Given the description of an element on the screen output the (x, y) to click on. 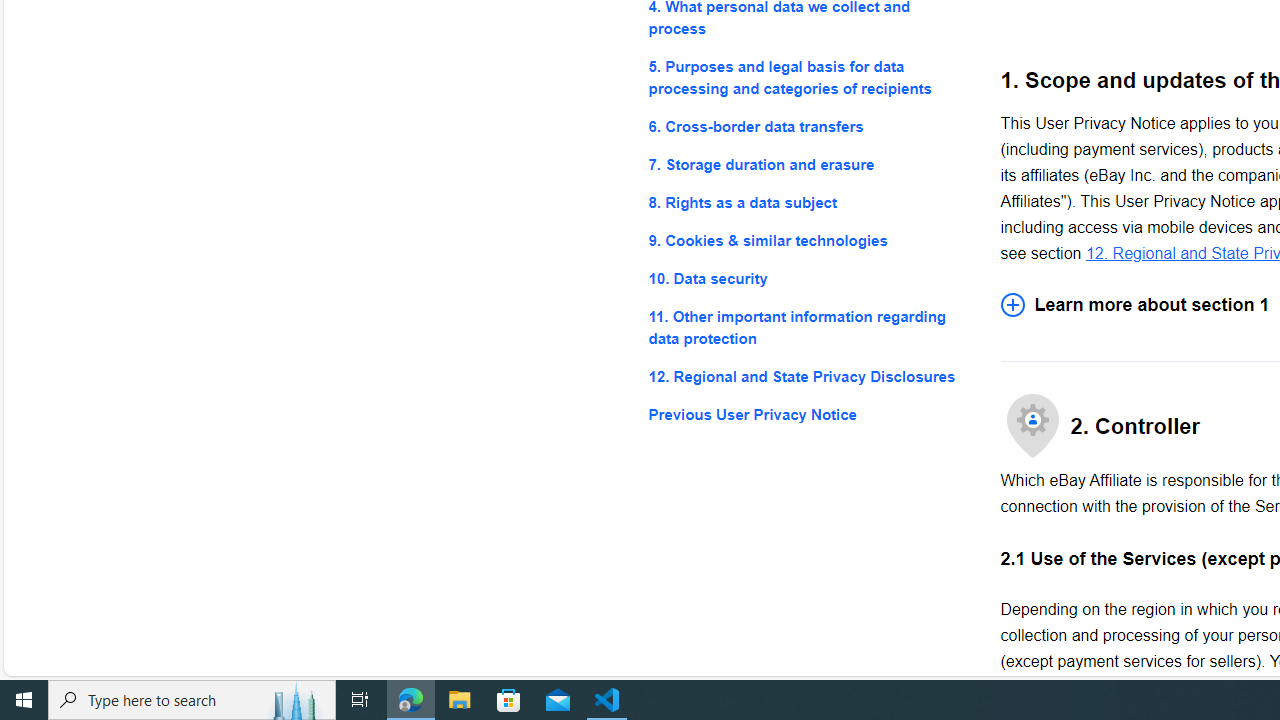
12. Regional and State Privacy Disclosures (807, 376)
